Given the description of an element on the screen output the (x, y) to click on. 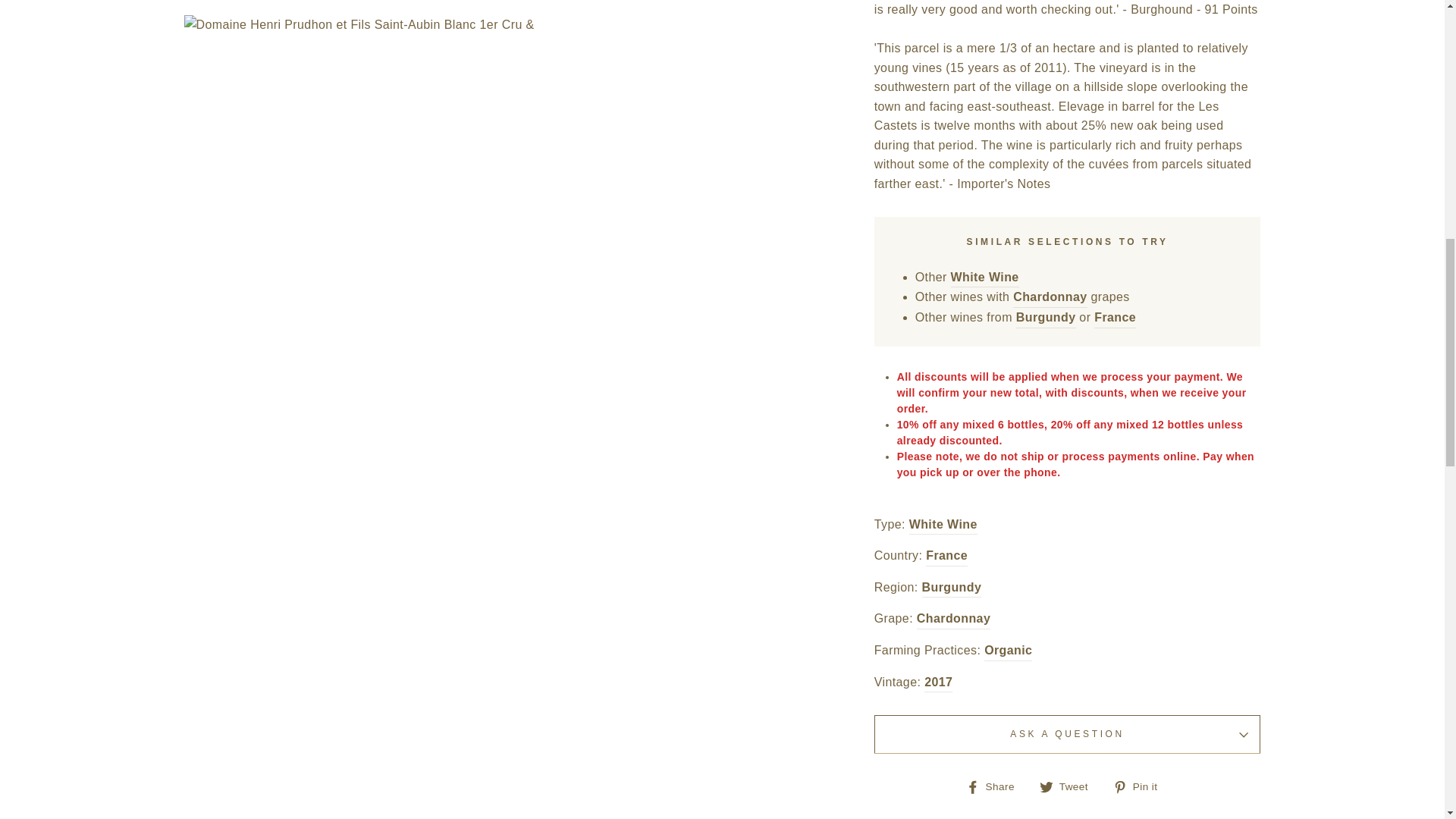
Tweet on Twitter (1069, 786)
Share on Facebook (996, 786)
Pin on Pinterest (1141, 786)
